Given the description of an element on the screen output the (x, y) to click on. 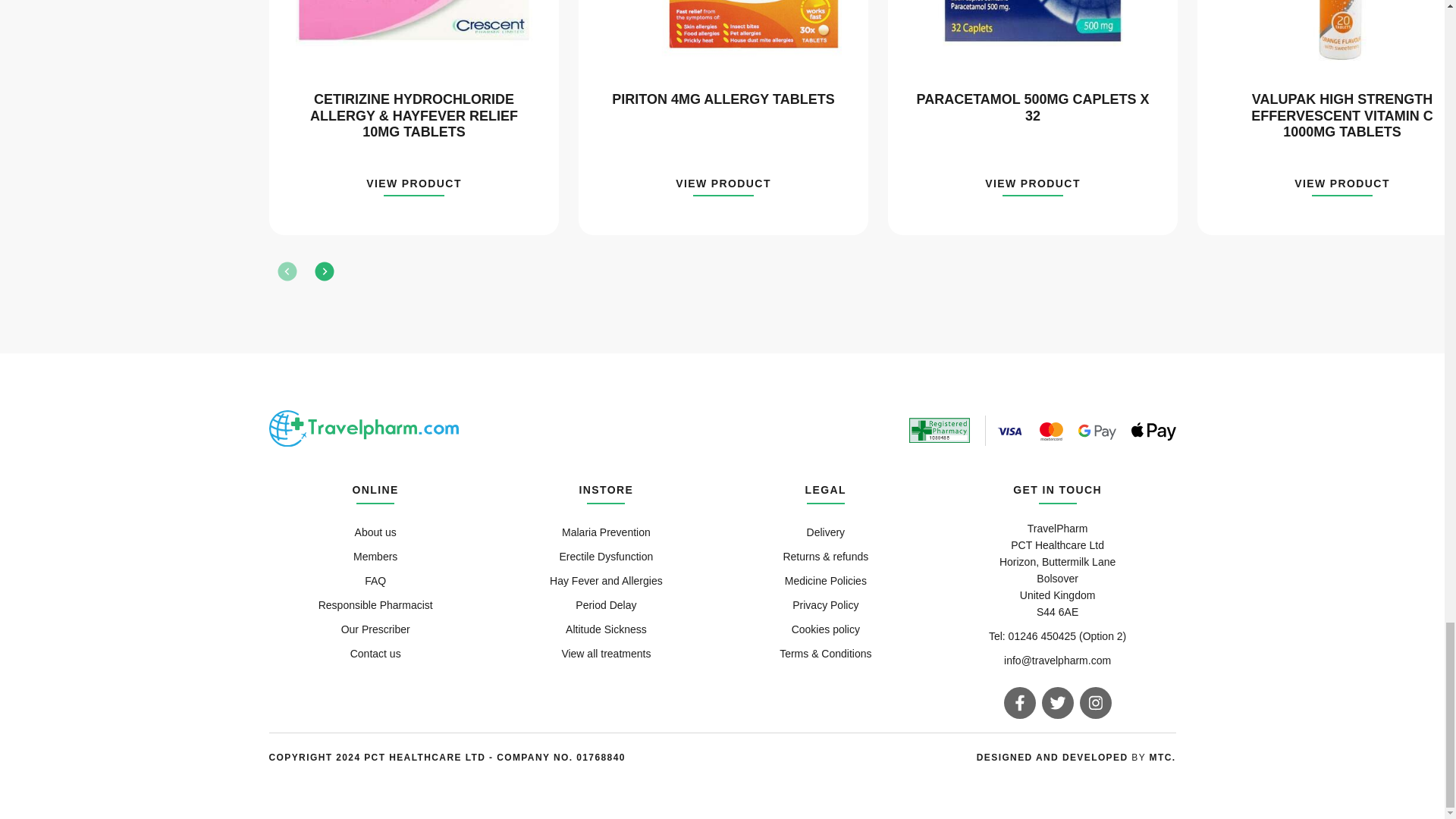
General Pharmaceutical Council (938, 430)
View product (723, 186)
logo (362, 428)
View product (1342, 186)
View product (414, 186)
View product (1032, 186)
Opens in a new window (1053, 757)
Opens in a new window (1163, 757)
